Given the description of an element on the screen output the (x, y) to click on. 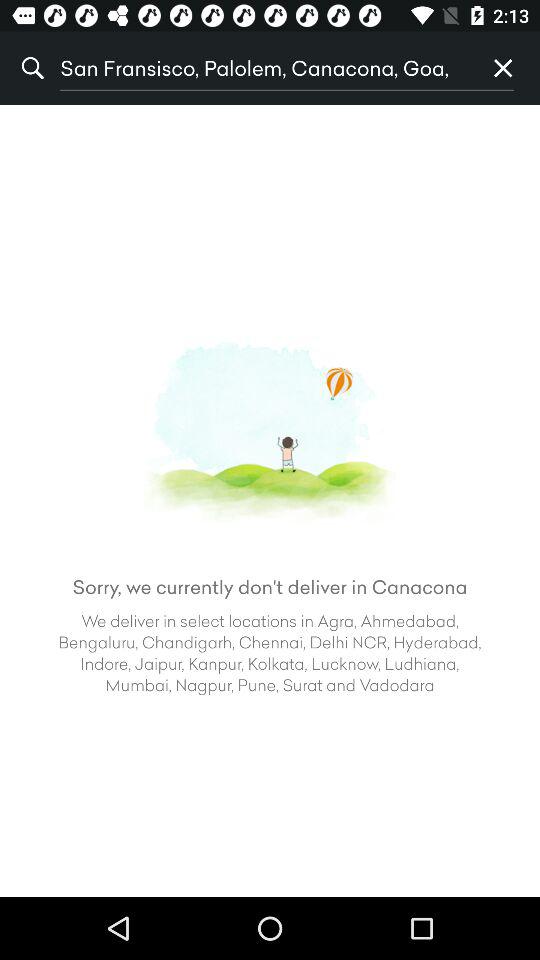
jump to the p icon (503, 68)
